Given the description of an element on the screen output the (x, y) to click on. 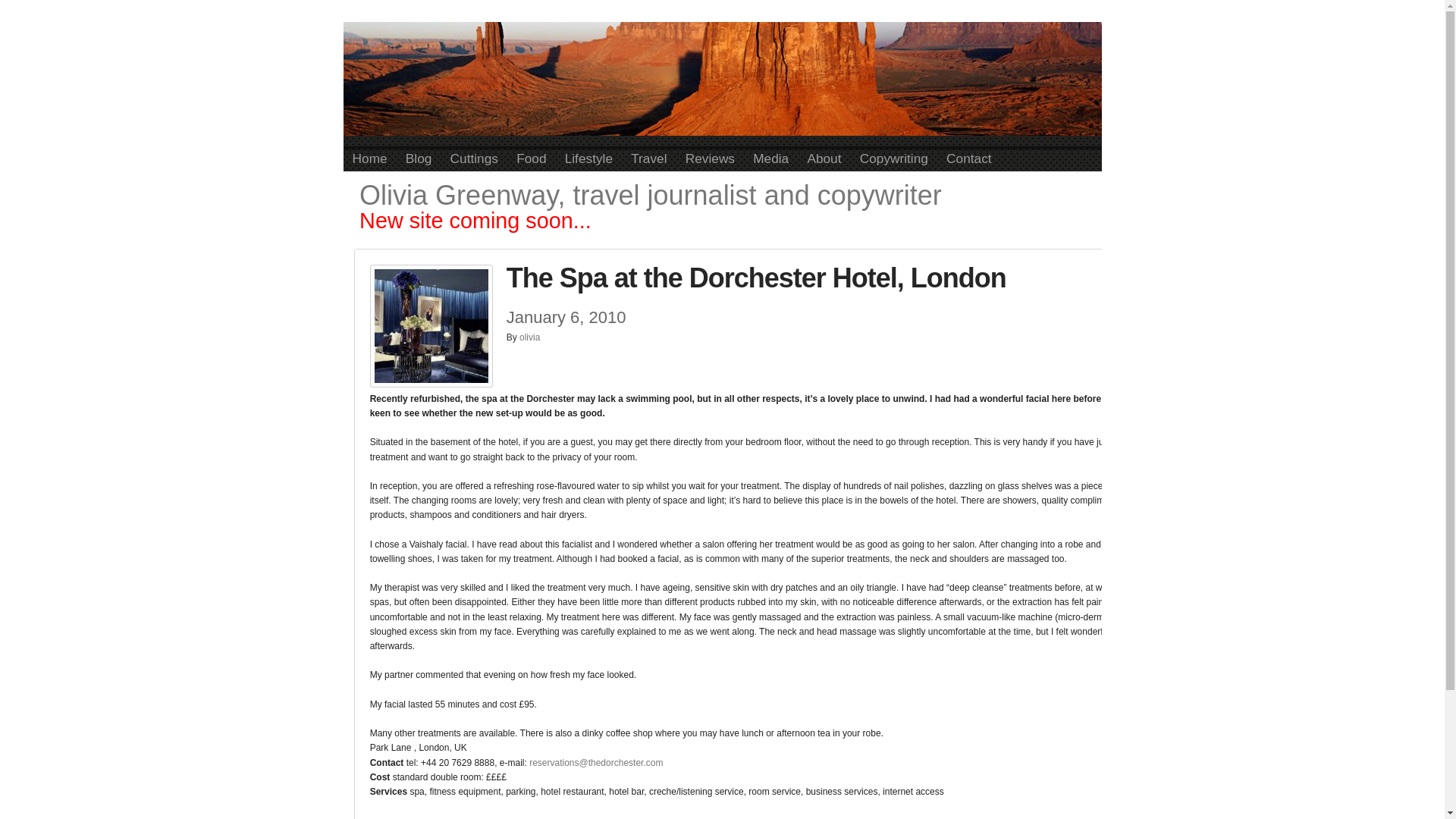
Travel (649, 158)
Lifestyle (589, 158)
Posts by olivia (529, 337)
Cuttings (474, 158)
Reviews (710, 158)
Food (531, 158)
Blog (418, 158)
Home (369, 158)
